Given the description of an element on the screen output the (x, y) to click on. 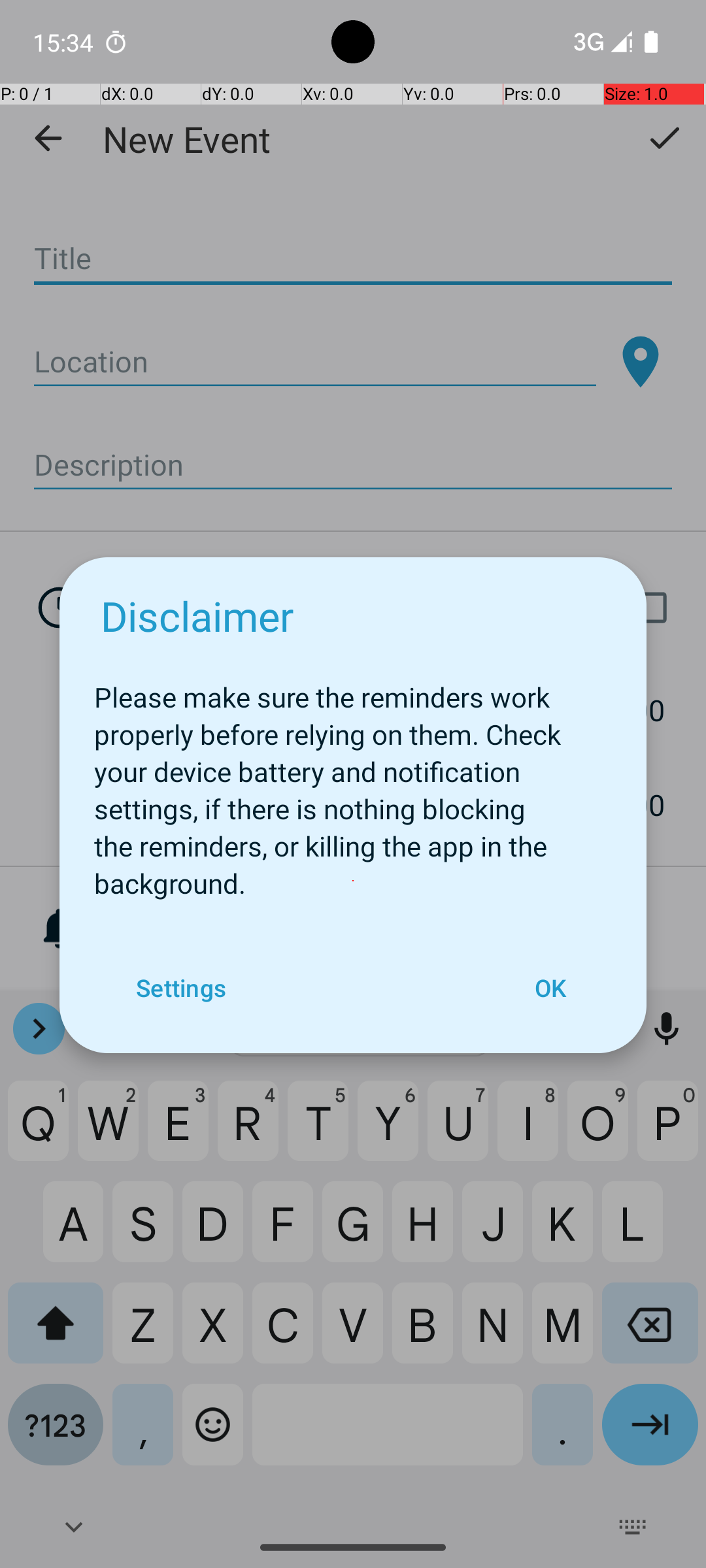
Disclaimer Element type: android.widget.TextView (196, 615)
Please make sure the reminders work properly before relying on them. Check your device battery and notification settings, if there is nothing blocking the reminders, or killing the app in the background. Element type: android.widget.TextView (352, 782)
